Given the description of an element on the screen output the (x, y) to click on. 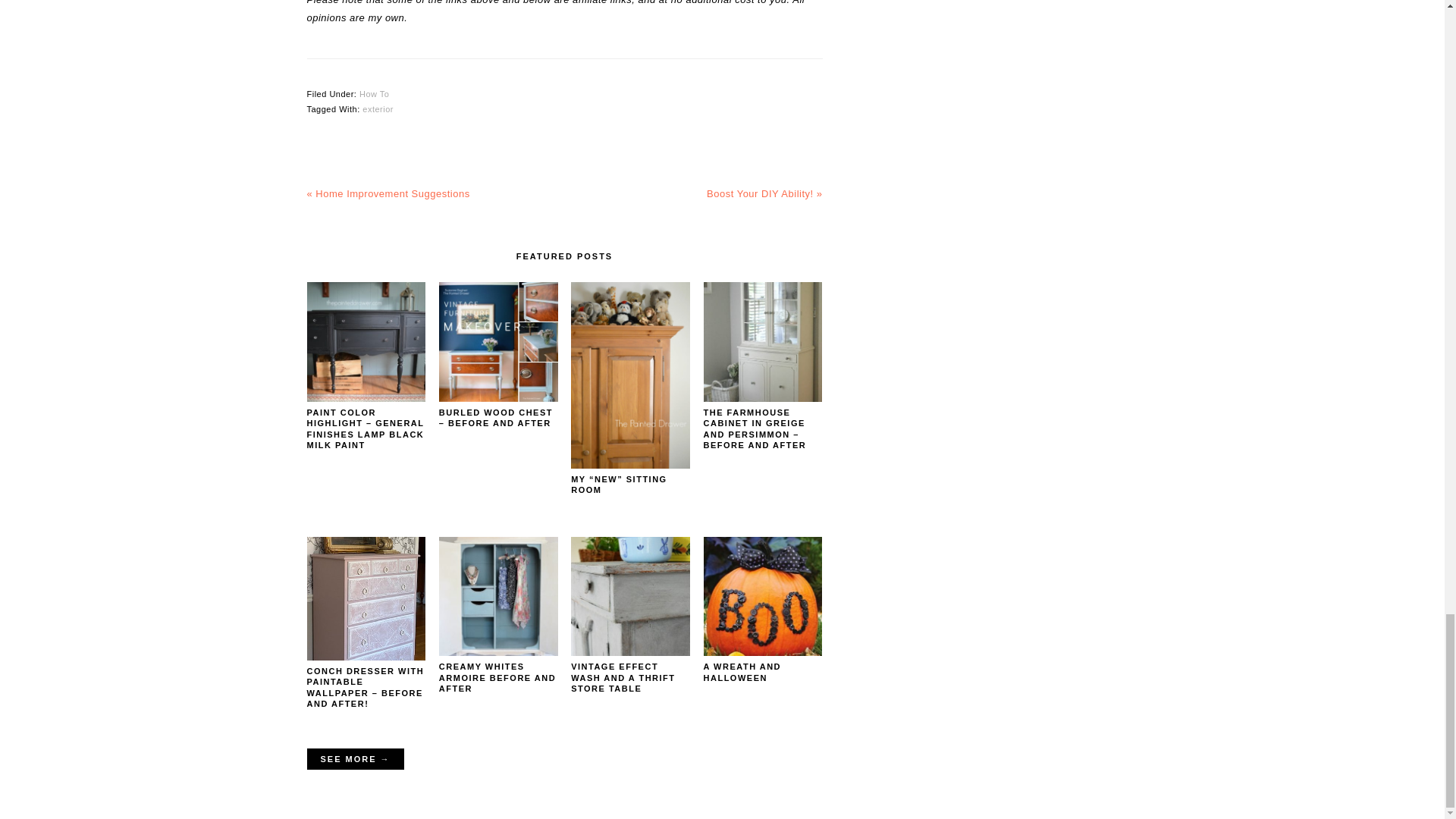
VINTAGE EFFECT WASH AND A THRIFT STORE TABLE (622, 676)
exterior (377, 108)
How To (373, 93)
CREAMY WHITES ARMOIRE BEFORE AND AFTER (497, 676)
Creamy Whites Armoire Before and After (498, 652)
A WREATH AND HALLOWEEN (742, 671)
Vintage Effect Wash and a Thrift Store Table (630, 652)
A Wreath and Halloween (762, 652)
Before and After (354, 758)
